Given the description of an element on the screen output the (x, y) to click on. 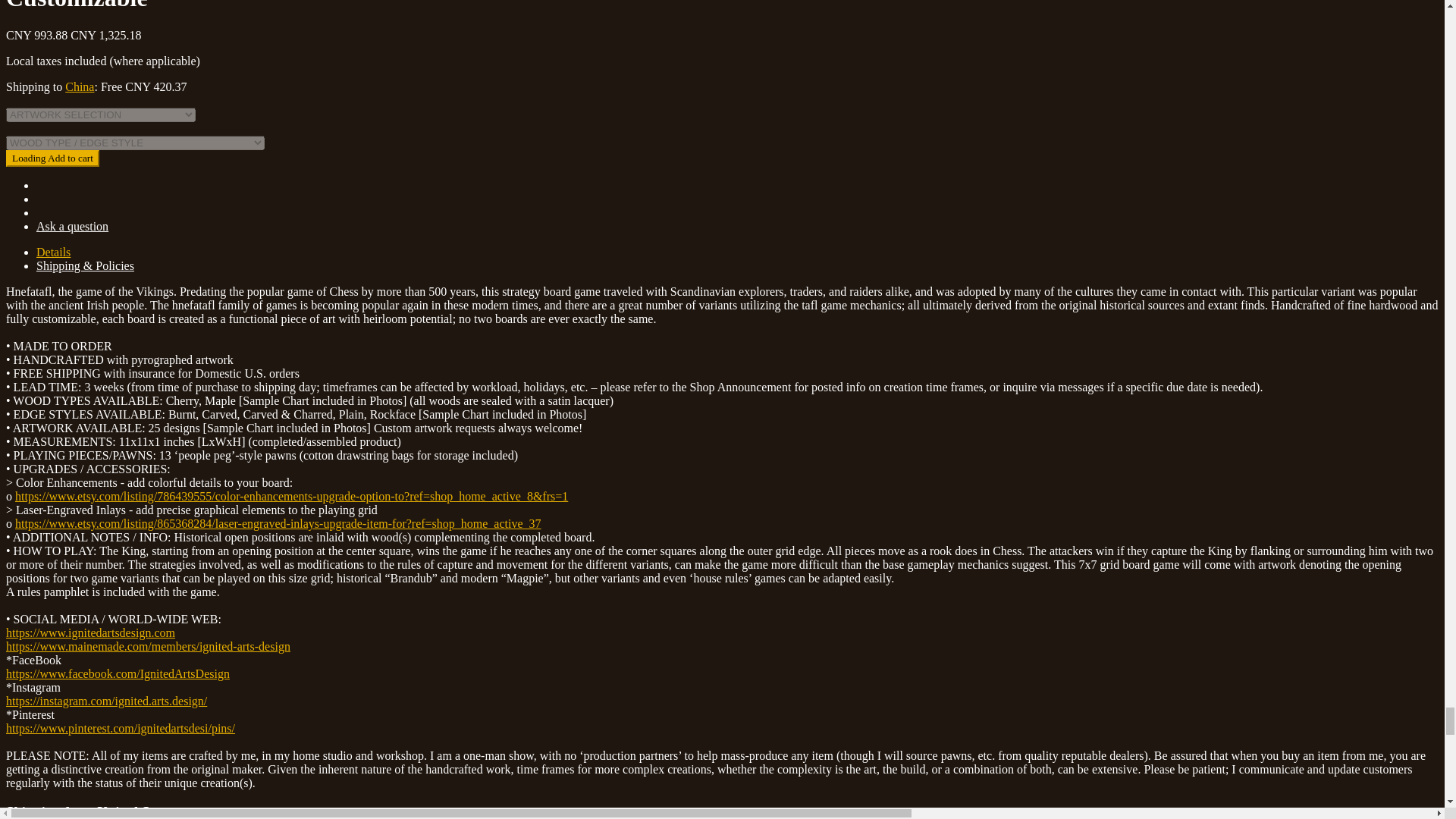
China (79, 86)
Details (52, 252)
Ask a question (71, 226)
Loading Add to cart (52, 158)
